Given the description of an element on the screen output the (x, y) to click on. 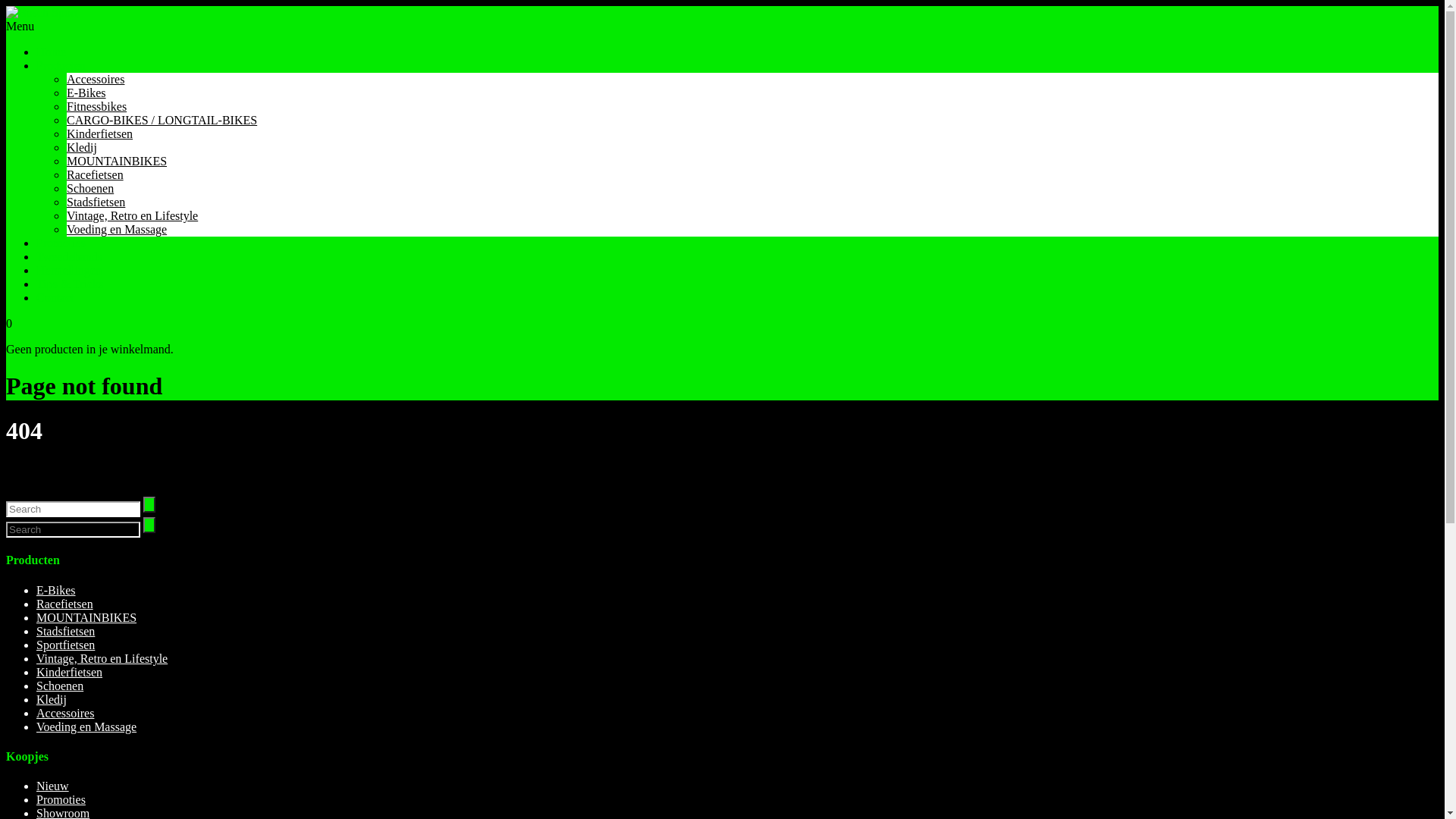
MOUNTAINBIKES Element type: text (86, 617)
Contact Element type: text (55, 297)
Racefietsen Element type: text (94, 174)
Kinderfietsen Element type: text (69, 671)
Racefietsen Element type: text (64, 603)
Tips & Tricks Element type: text (69, 283)
Stadsfietsen Element type: text (65, 630)
Stadsfietsen Element type: text (95, 201)
Kinderfietsen Element type: text (99, 133)
Fitnessbikes Element type: text (96, 106)
E-Bikes Element type: text (55, 589)
Herstellingen Element type: text (68, 269)
Accessoires Element type: text (95, 78)
Accessoires Element type: text (65, 712)
Promoties Element type: text (60, 242)
Tweedehands Element type: text (69, 256)
CARGO-BIKES / LONGTAIL-BIKES Element type: text (161, 119)
Voeding en Massage Element type: text (86, 726)
Schoenen Element type: text (59, 685)
Schoenen Element type: text (89, 188)
Voeding en Massage Element type: text (116, 228)
Home Element type: text (50, 51)
Nieuw Element type: text (52, 785)
Vintage, Retro en Lifestyle Element type: text (101, 658)
Producten Element type: text (60, 65)
E-Bikes Element type: text (86, 92)
MOUNTAINBIKES Element type: text (116, 160)
Kledij Element type: text (51, 699)
Promoties Element type: text (60, 799)
Kledij Element type: text (81, 147)
Vintage, Retro en Lifestyle Element type: text (131, 215)
Sportfietsen Element type: text (65, 644)
